Given the description of an element on the screen output the (x, y) to click on. 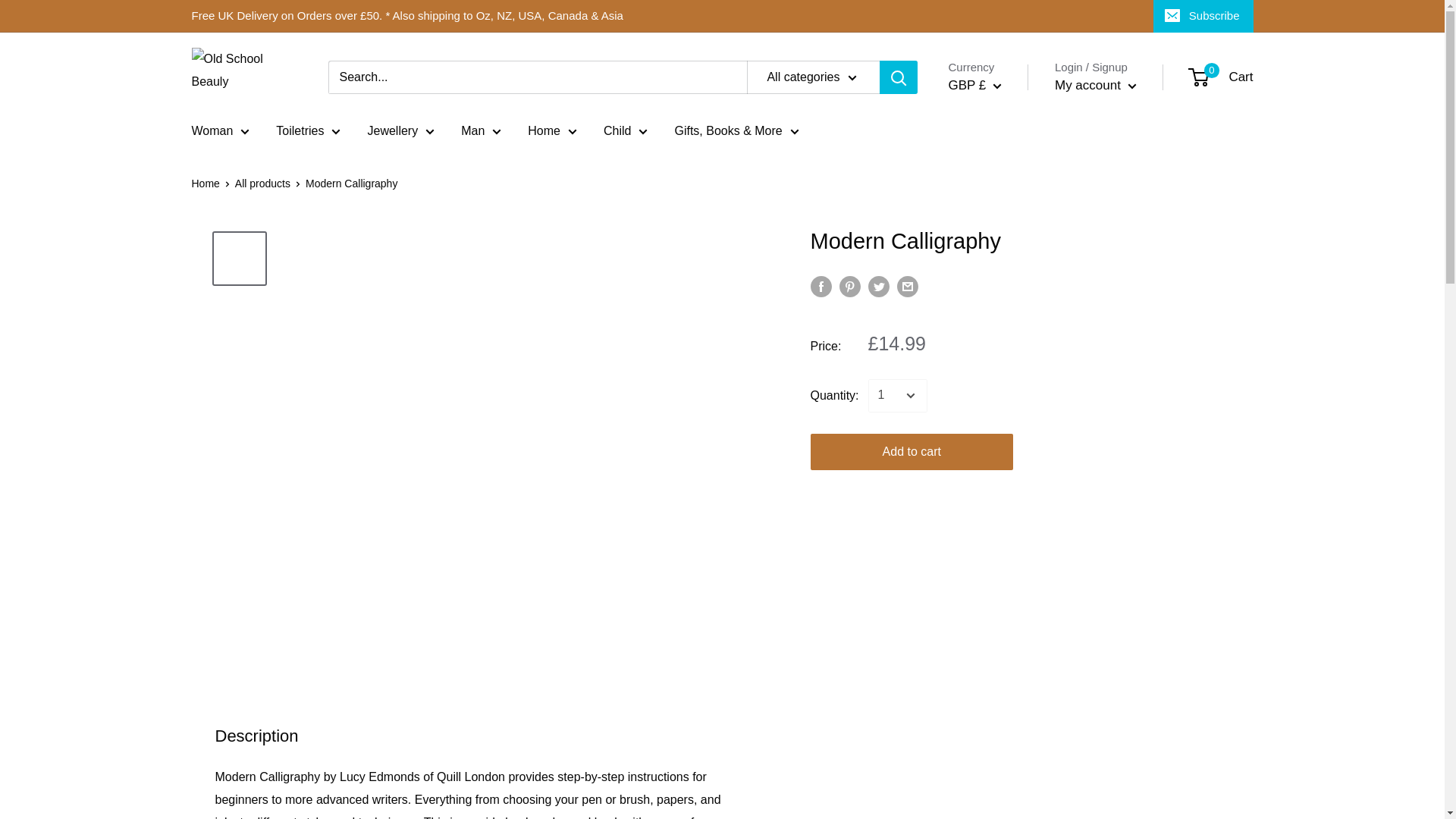
Subscribe (1203, 15)
